Given the description of an element on the screen output the (x, y) to click on. 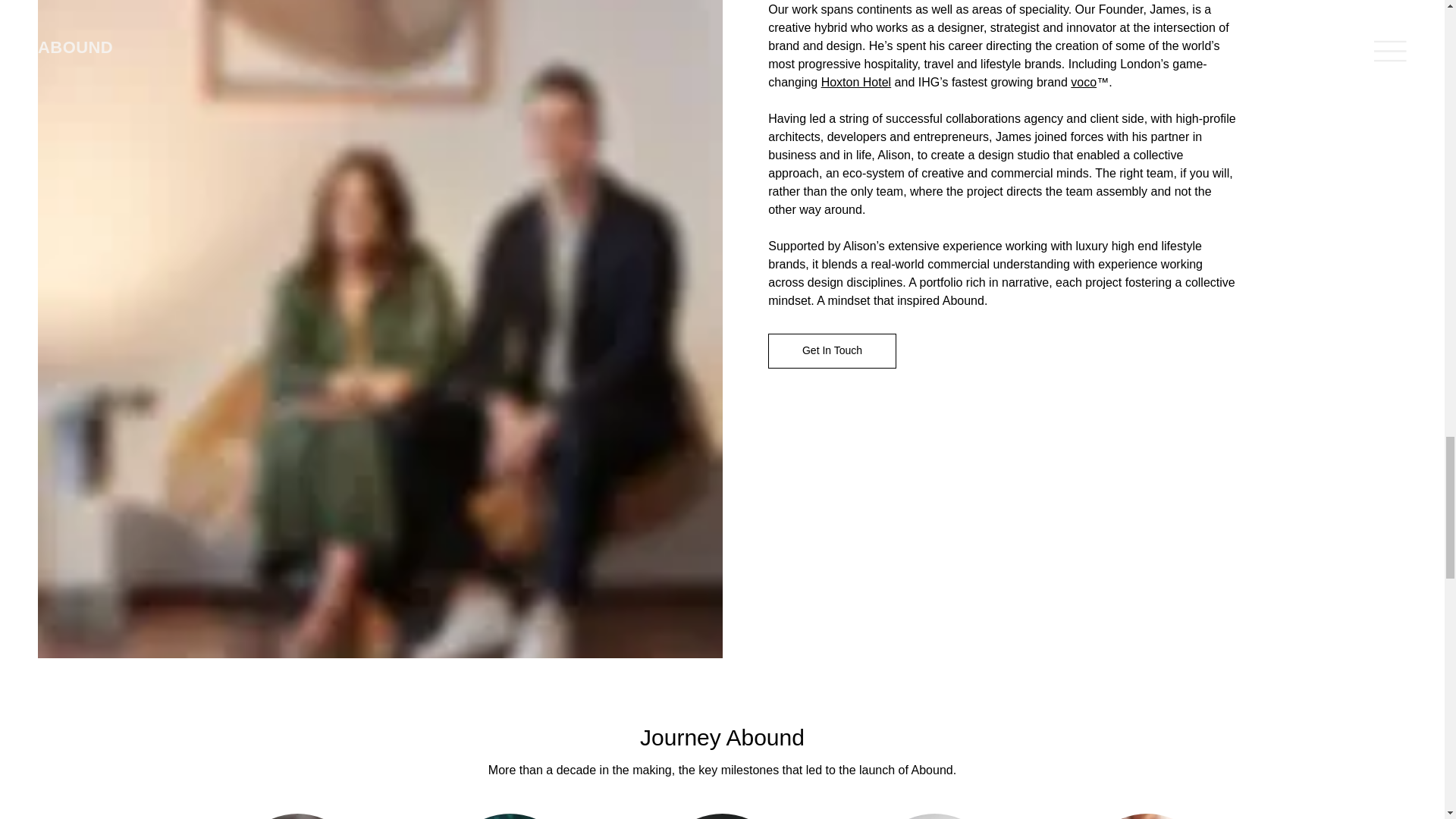
Get In Touch (832, 226)
